Given the description of an element on the screen output the (x, y) to click on. 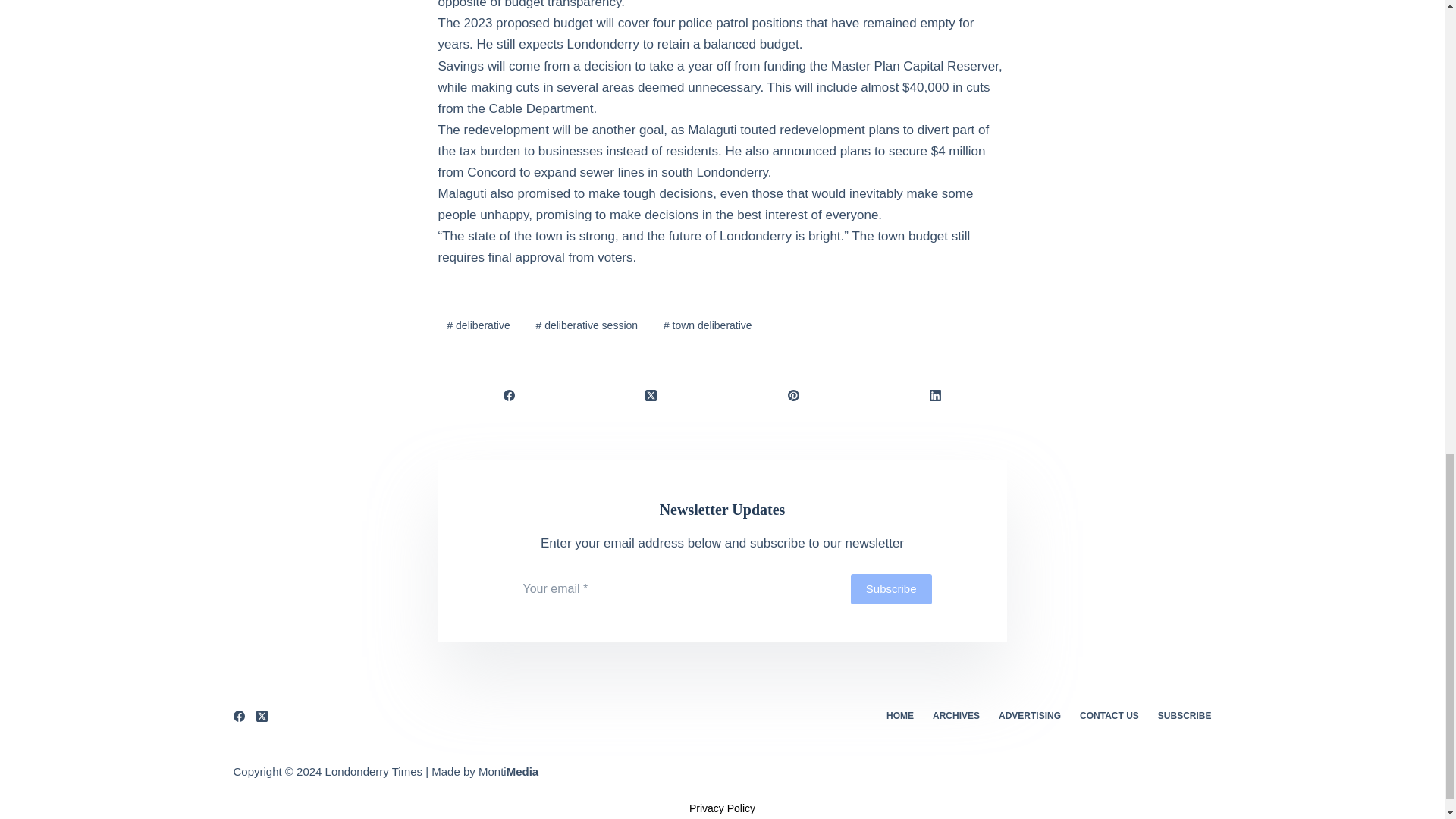
Subscribe (890, 589)
